Given the description of an element on the screen output the (x, y) to click on. 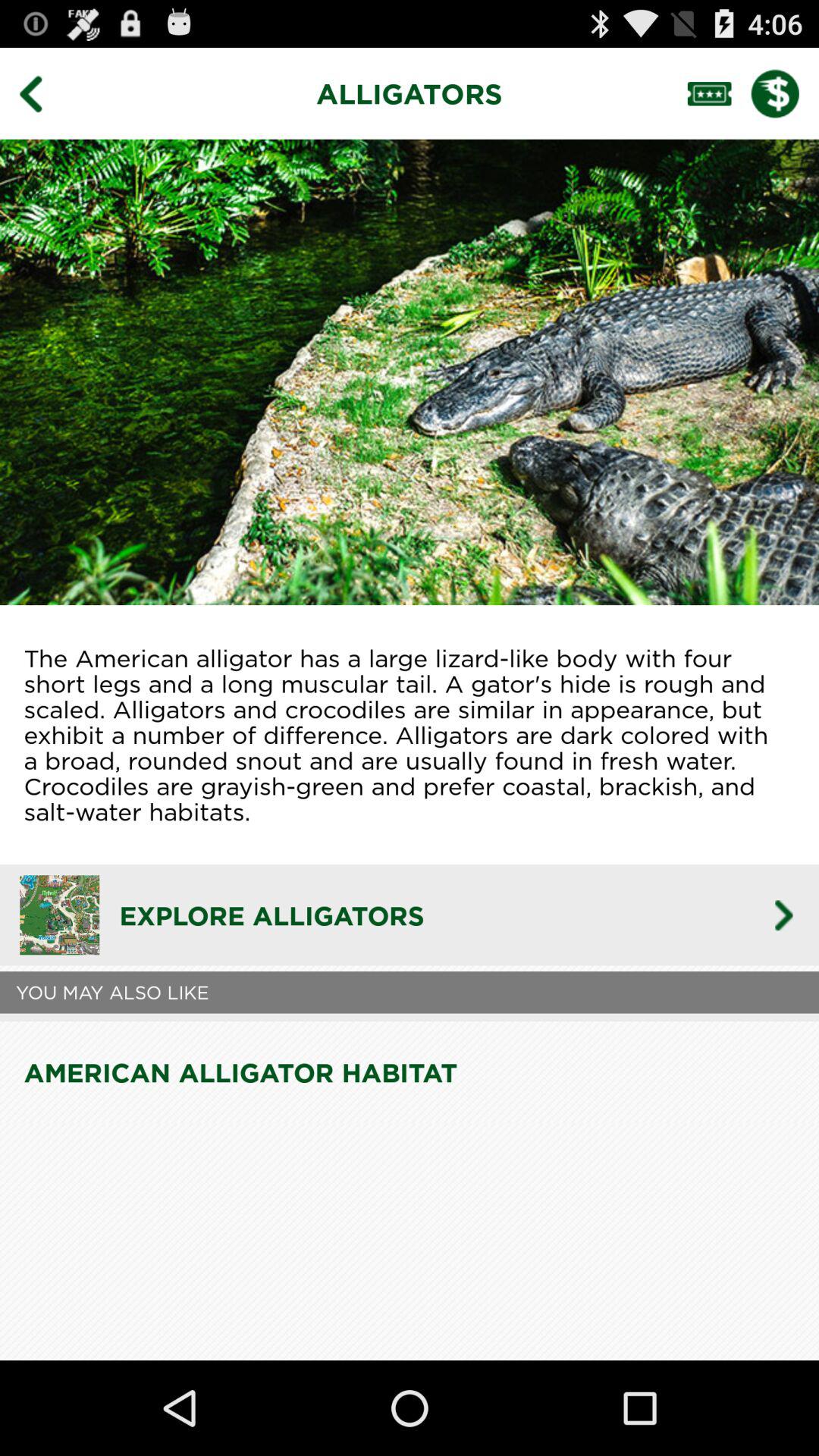
purchase (785, 93)
